Given the description of an element on the screen output the (x, y) to click on. 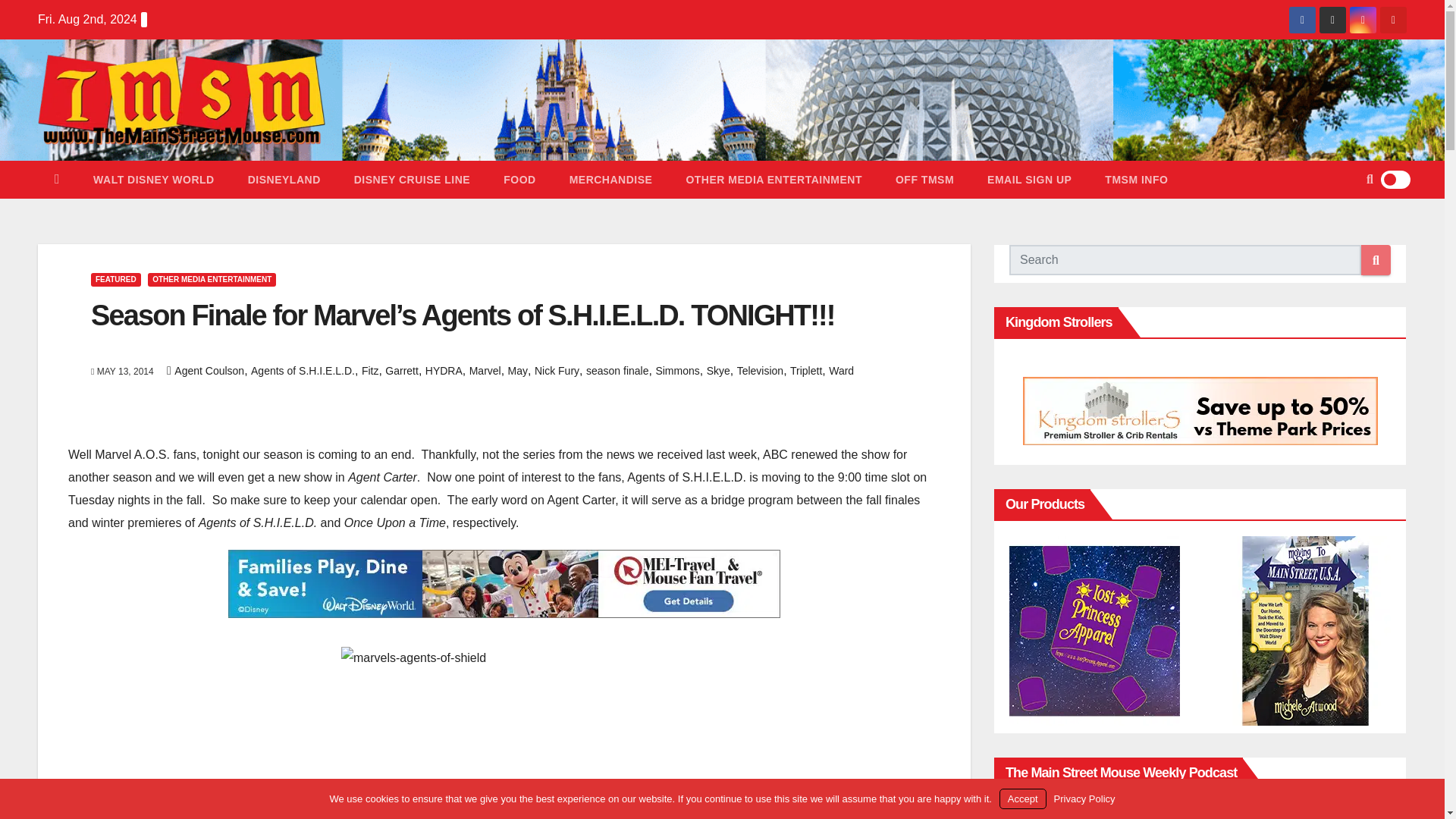
Agent Coulson (209, 370)
Food (518, 179)
Marvel (484, 370)
Agents of S.H.I.E.L.D. (302, 370)
Disneyland (284, 179)
May (517, 370)
Nick Fury (556, 370)
WALT DISNEY WORLD (154, 179)
FOOD (518, 179)
OTHER MEDIA ENTERTAINMENT (212, 279)
Garrett (402, 370)
Fitz (369, 370)
Other Media Entertainment (773, 179)
Skye (718, 370)
DISNEY CRUISE LINE (411, 179)
